Given the description of an element on the screen output the (x, y) to click on. 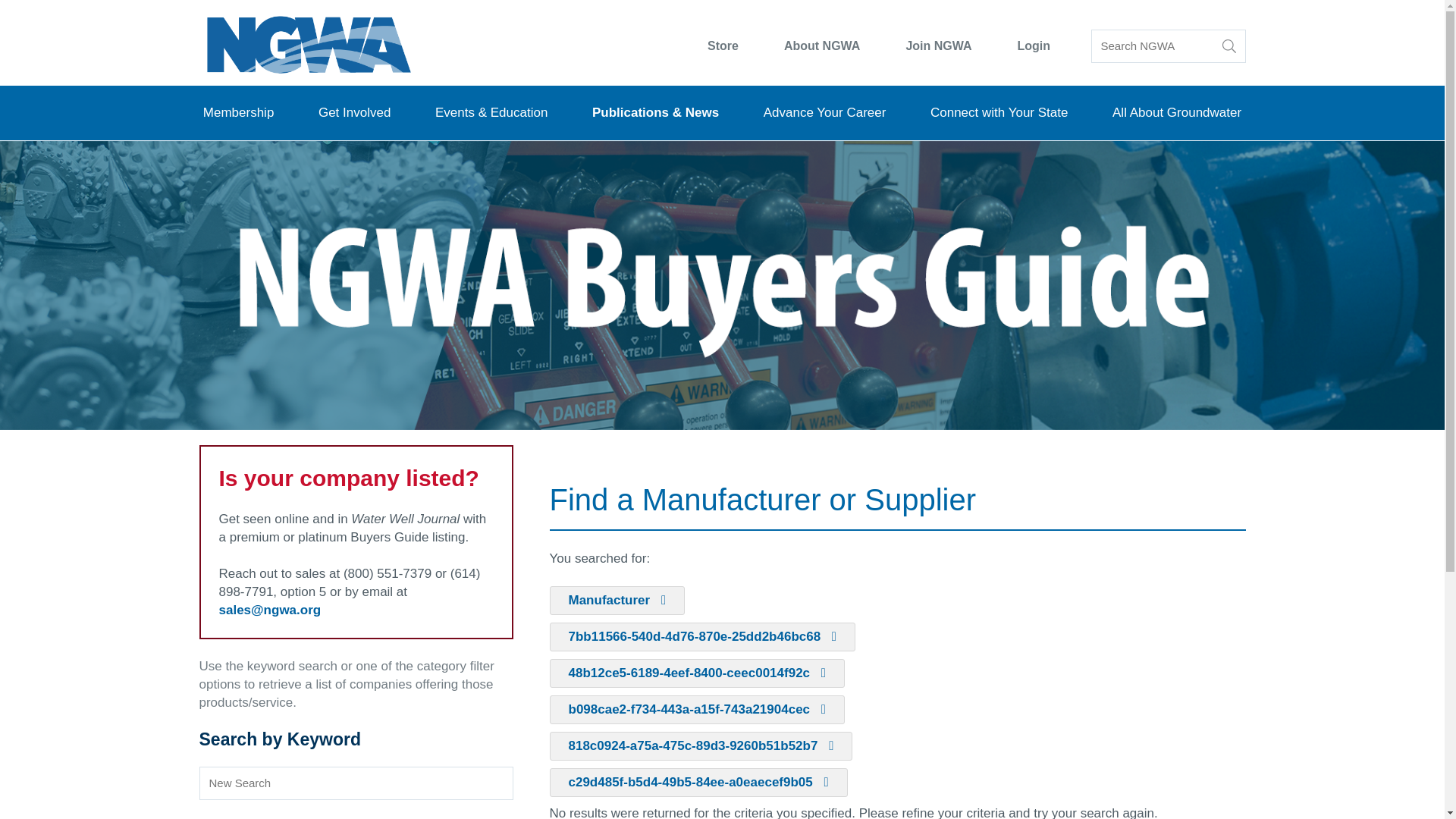
NGWA new logo (307, 50)
Store (722, 46)
Membership (239, 112)
Get Involved (354, 112)
About NGWA (821, 46)
Submit search (1229, 46)
Join NGWA (938, 46)
Login (1033, 46)
